Given the description of an element on the screen output the (x, y) to click on. 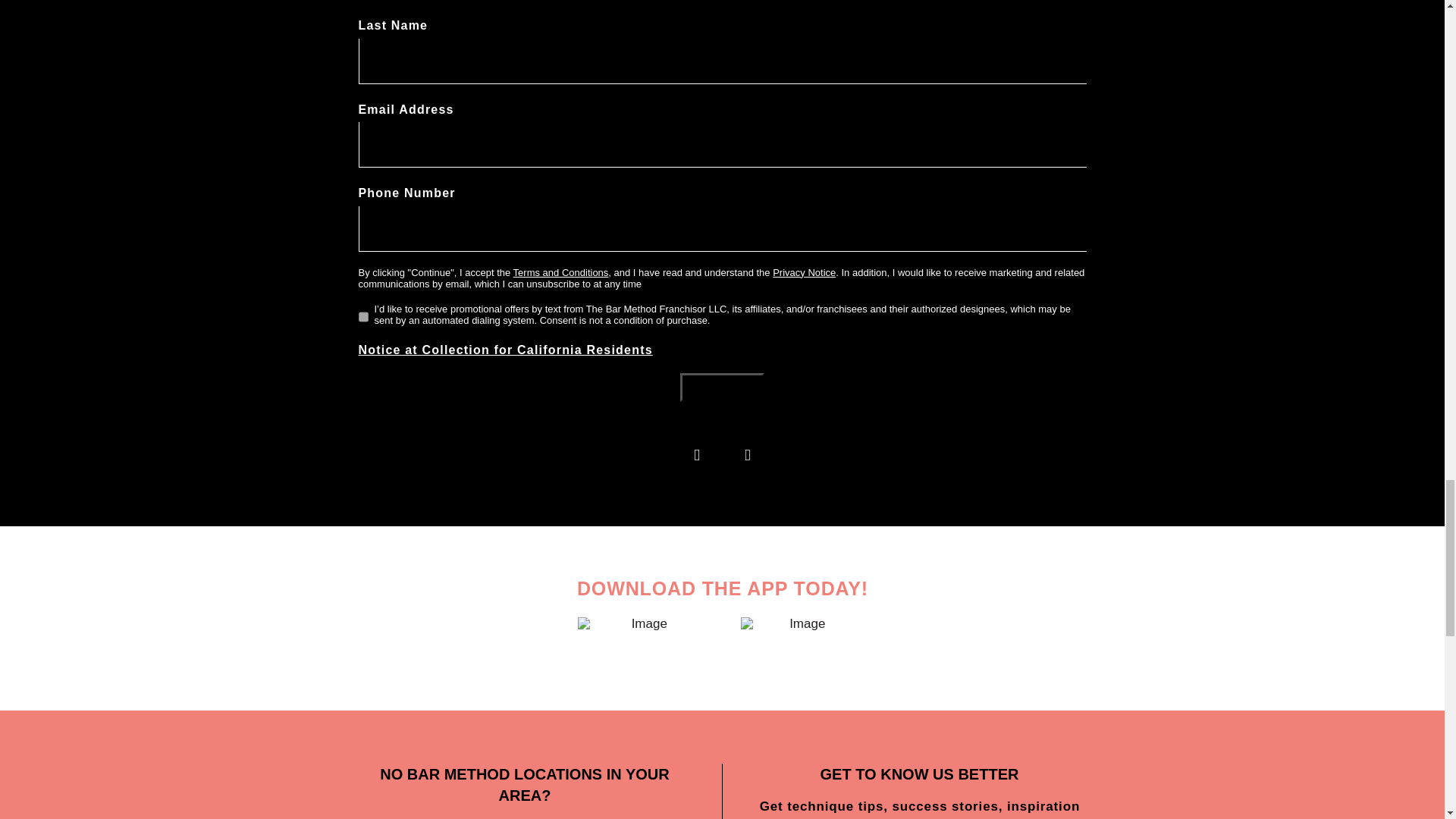
SUBSCRIBE (721, 387)
Privacy Notice (804, 272)
Notice at Collection for California Residents (505, 349)
Terms and Conditions (560, 272)
